Given the description of an element on the screen output the (x, y) to click on. 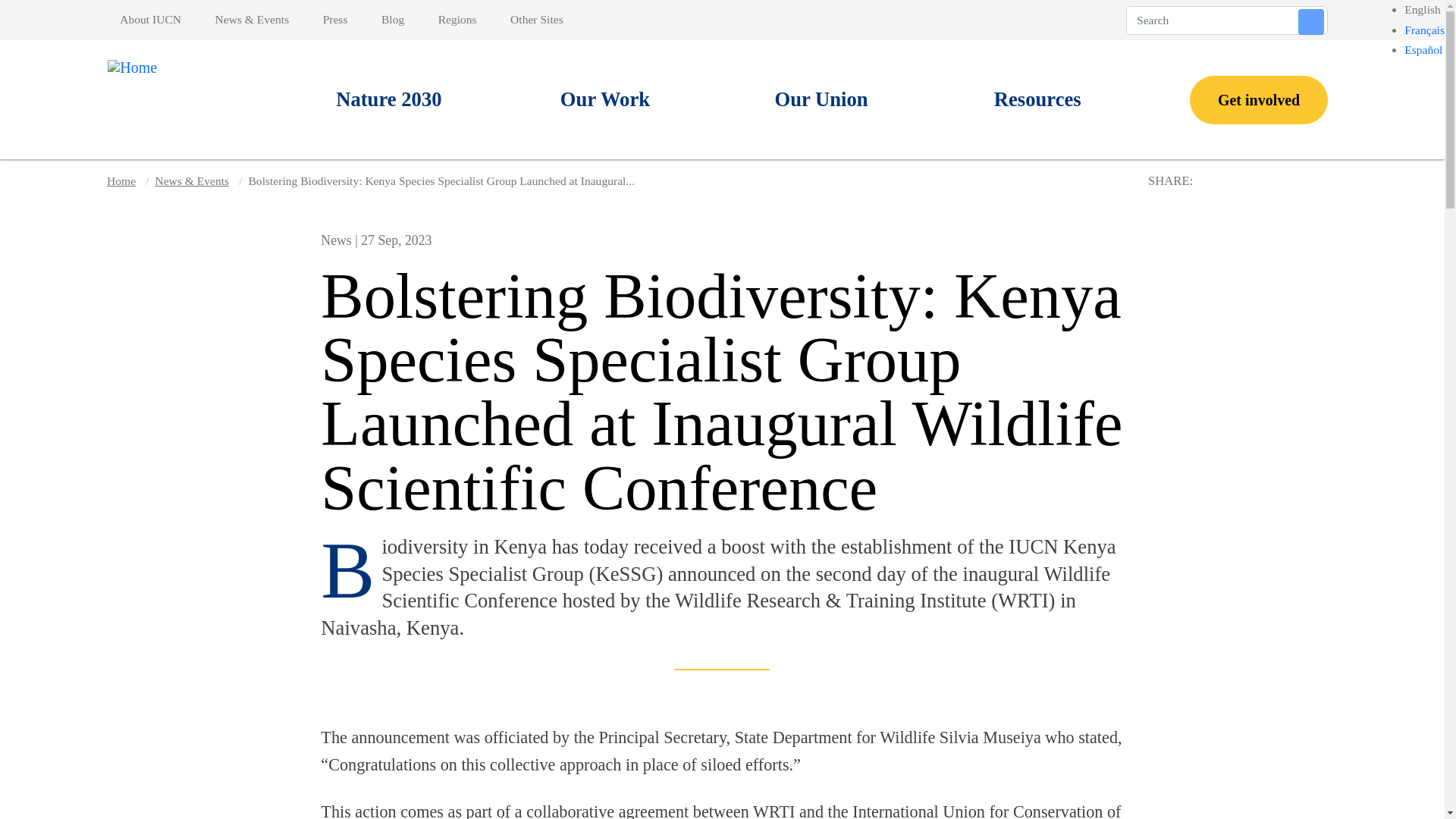
Press (334, 20)
Home (151, 99)
Other Sites (536, 20)
Regions (456, 20)
Nature 2030 (389, 99)
Blog (393, 20)
About IUCN (152, 20)
